Given the description of an element on the screen output the (x, y) to click on. 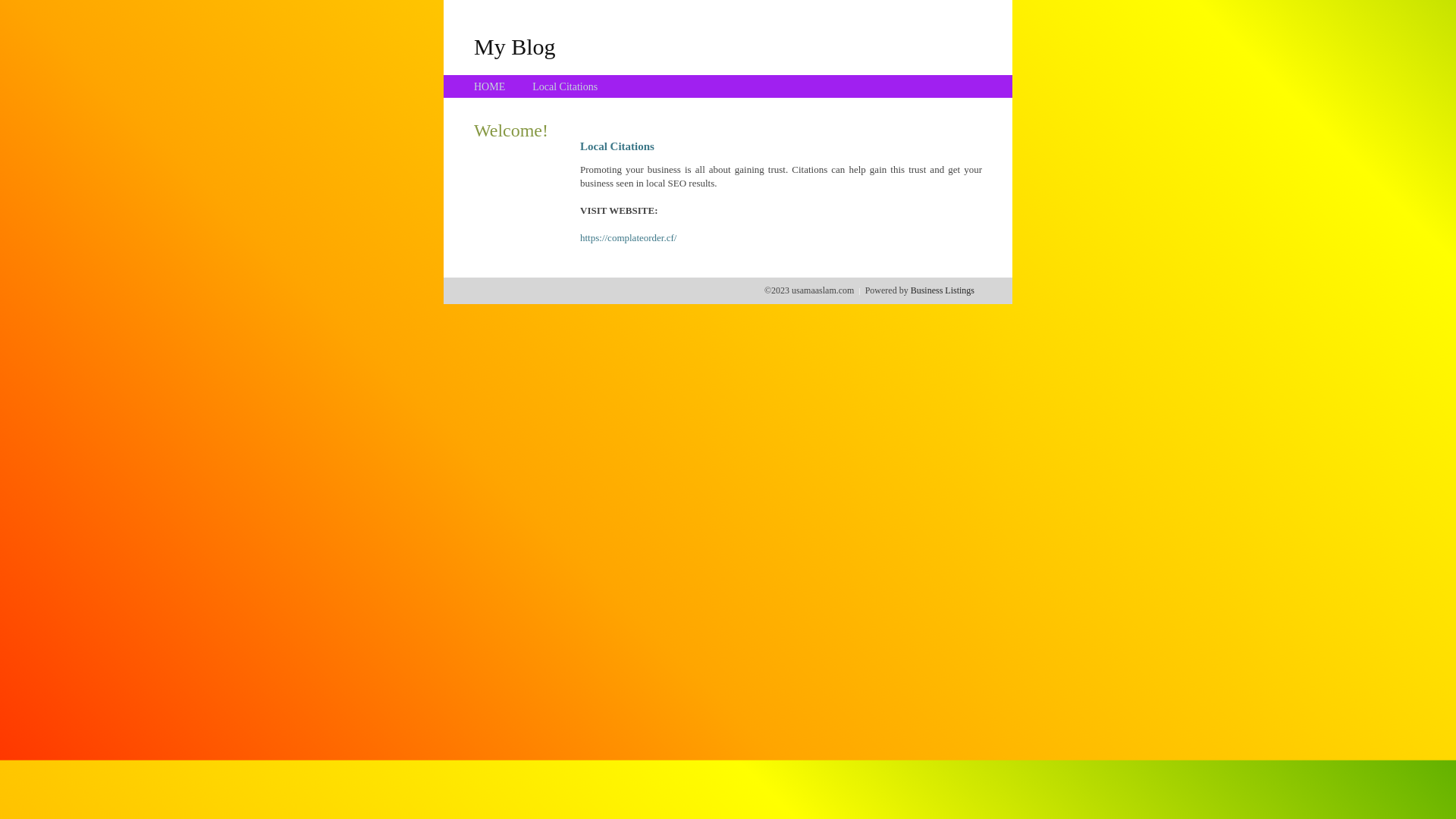
HOME Element type: text (489, 86)
My Blog Element type: text (514, 46)
Business Listings Element type: text (942, 290)
Local Citations Element type: text (564, 86)
https://complateorder.cf/ Element type: text (628, 237)
